Given the description of an element on the screen output the (x, y) to click on. 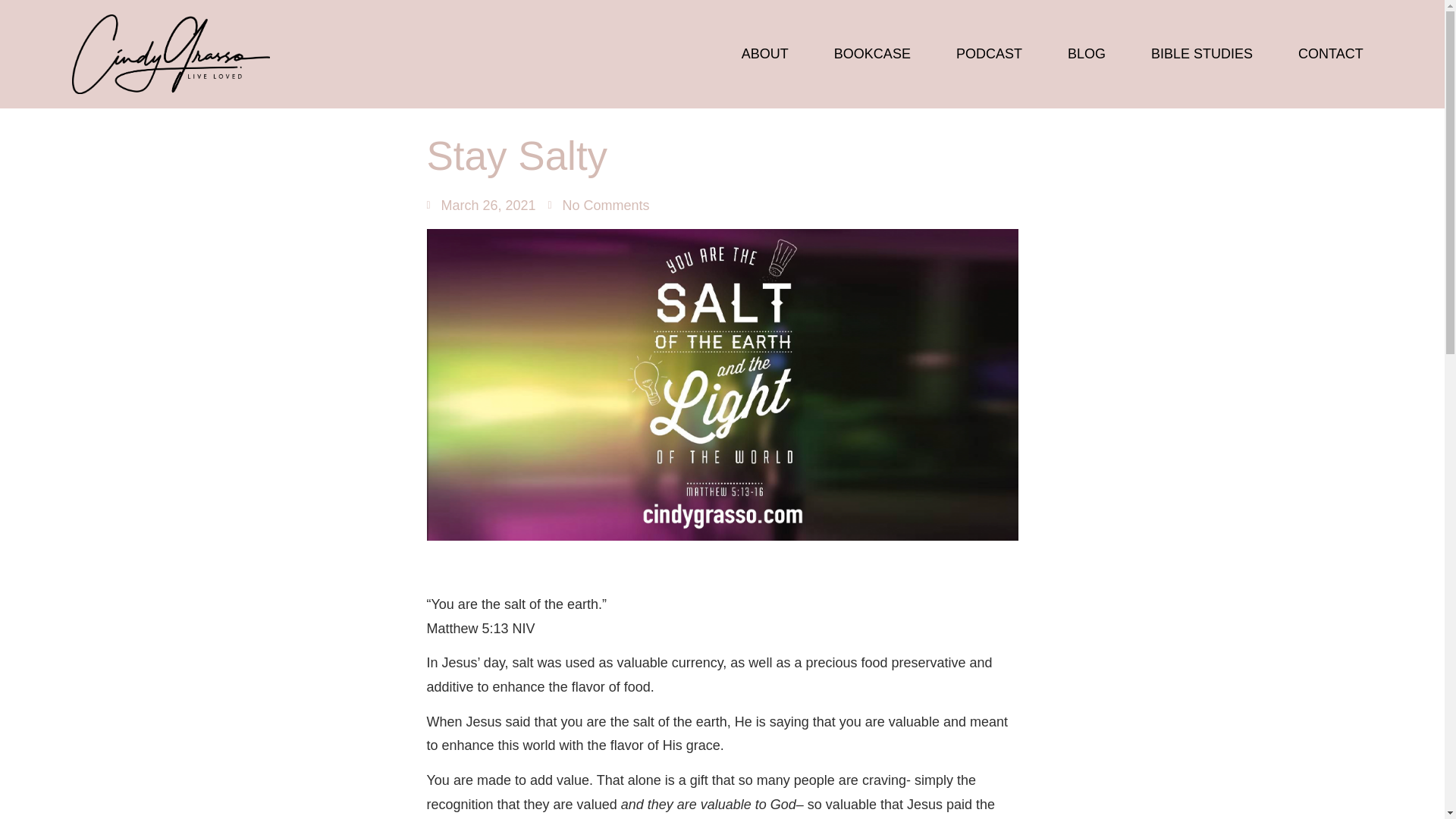
PODCAST (989, 54)
BOOKCASE (872, 54)
CONTACT (1330, 54)
No Comments (598, 205)
BLOG (1086, 54)
BIBLE STUDIES (1201, 54)
March 26, 2021 (480, 205)
ABOUT (764, 54)
